Given the description of an element on the screen output the (x, y) to click on. 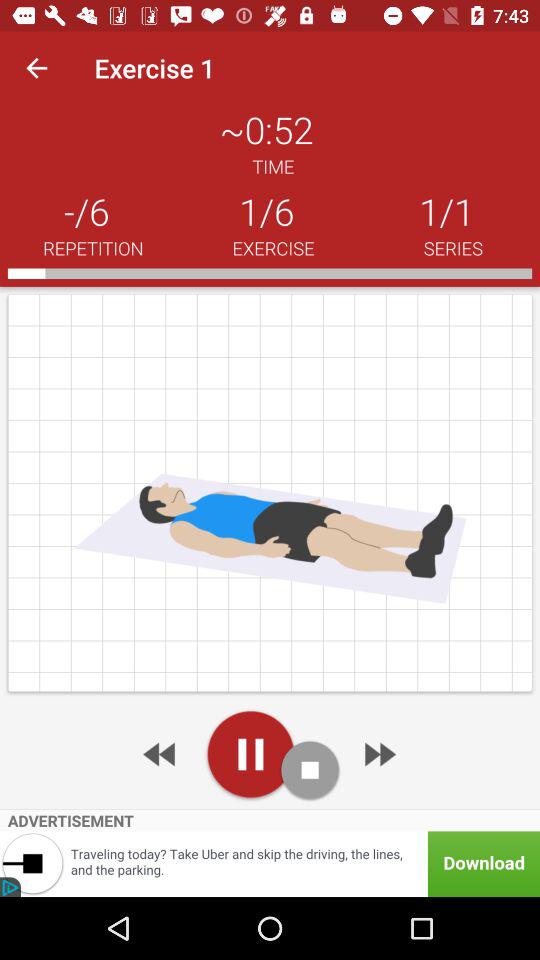
play (250, 754)
